Given the description of an element on the screen output the (x, y) to click on. 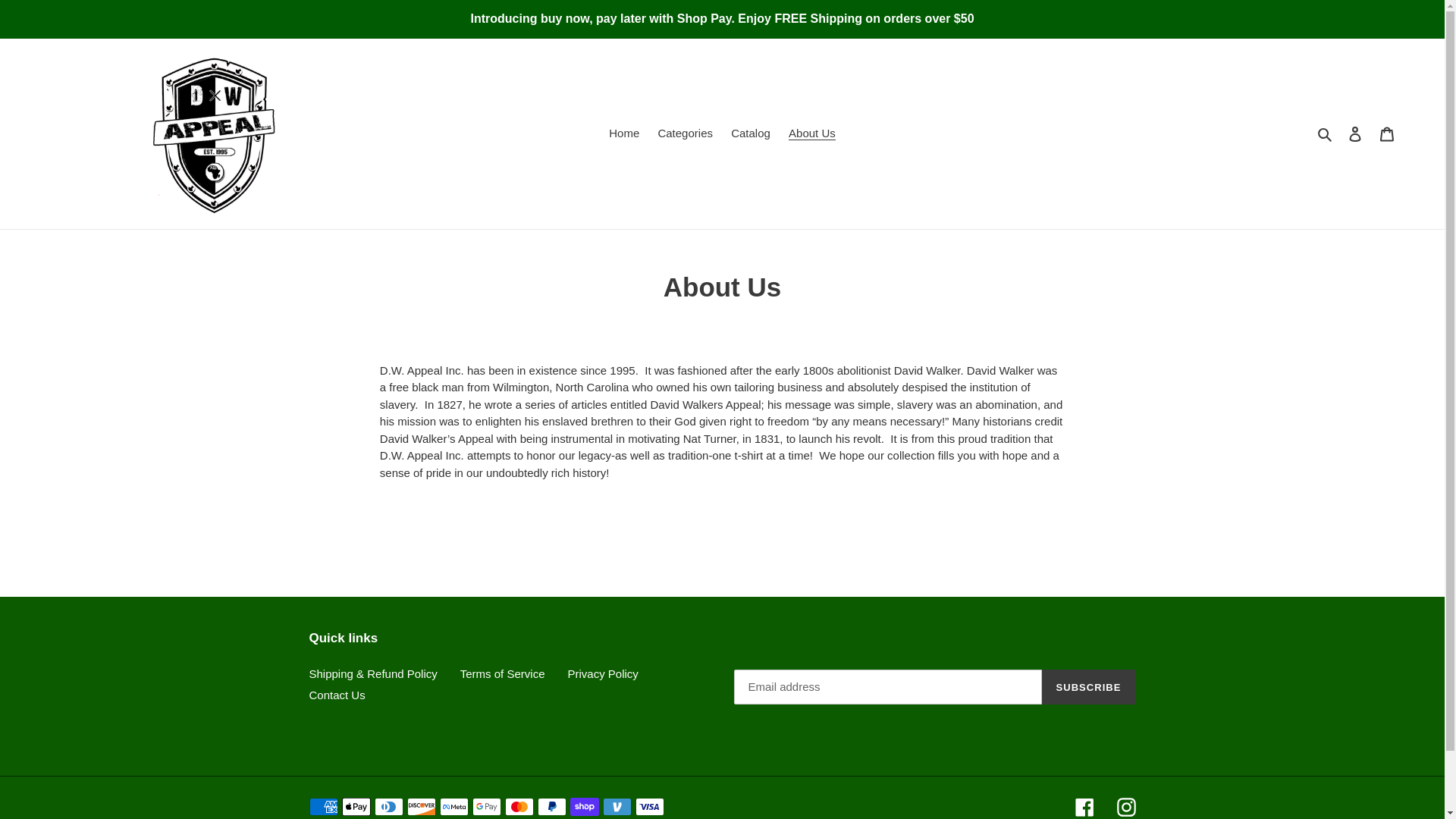
Cart (1387, 133)
About Us (811, 133)
Privacy Policy (602, 673)
Home (623, 133)
Terms of Service (502, 673)
Facebook (1084, 806)
Log in (1355, 133)
Search (1326, 133)
Catalog (750, 133)
SUBSCRIBE (1088, 686)
